Given the description of an element on the screen output the (x, y) to click on. 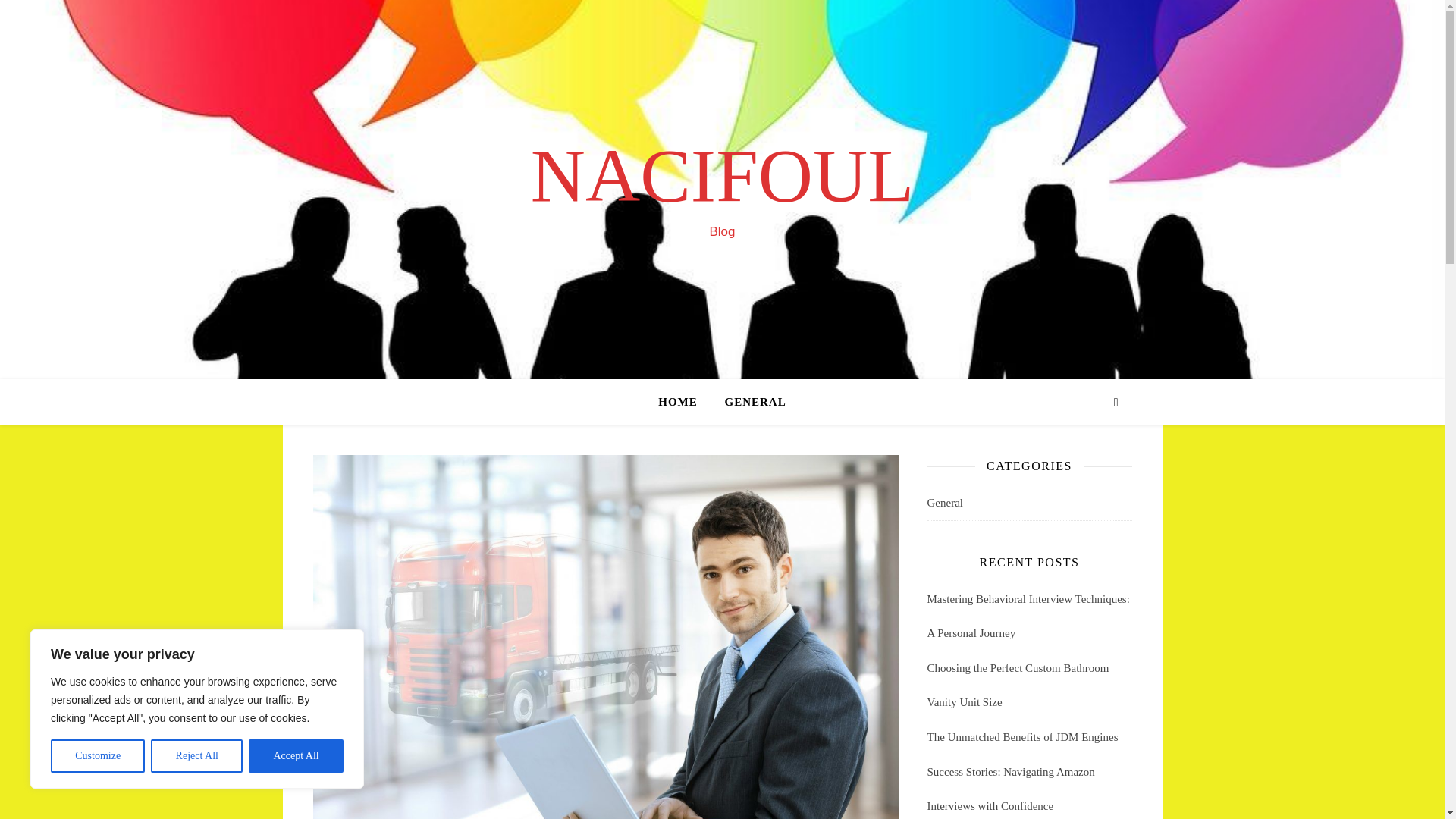
General (944, 503)
Reject All (197, 756)
Customize (97, 756)
GENERAL (749, 402)
Accept All (295, 756)
Choosing the Perfect Custom Bathroom Vanity Unit Size (1017, 684)
HOME (684, 402)
